Given the description of an element on the screen output the (x, y) to click on. 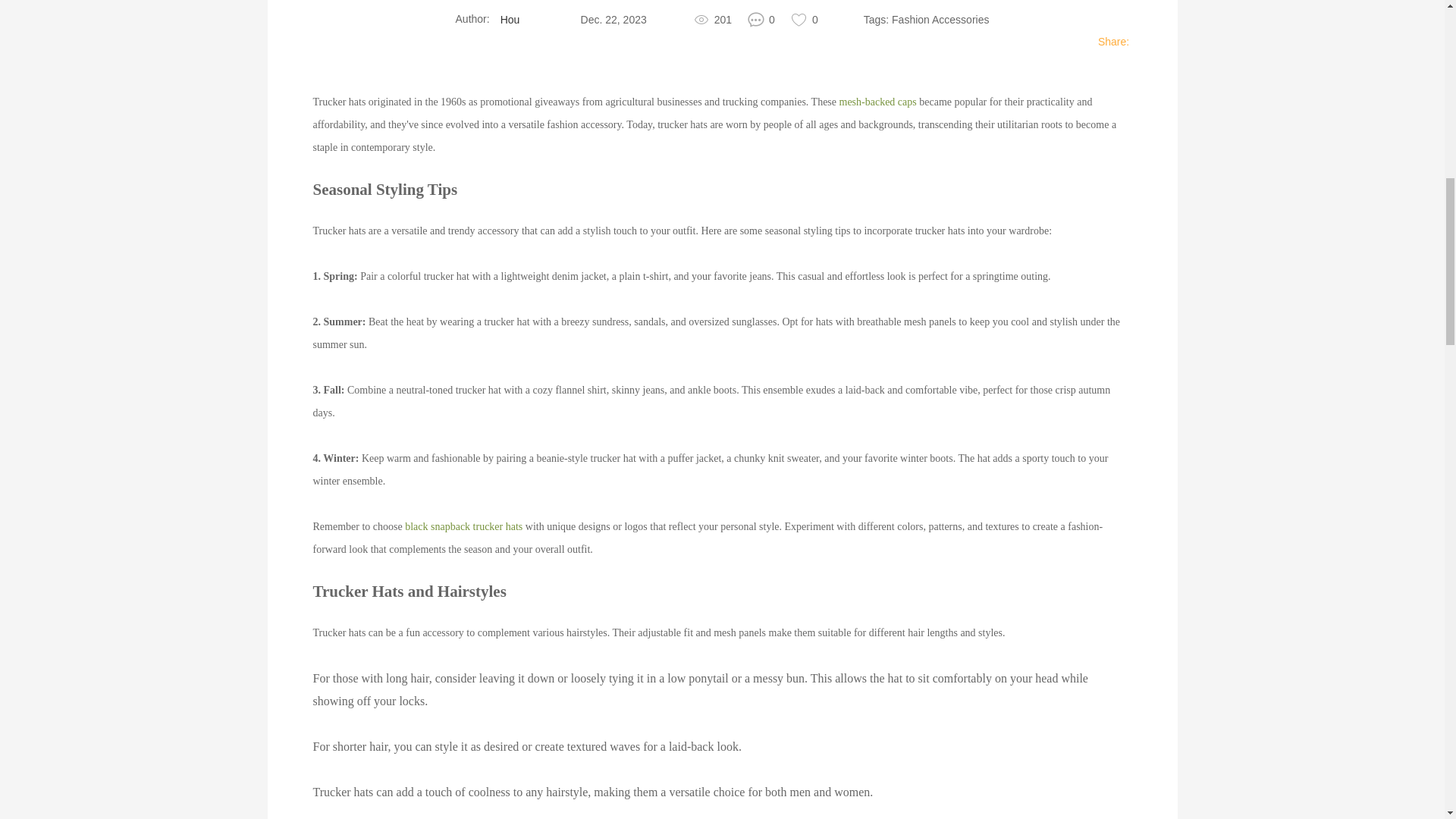
Fashion Accessories (939, 19)
Hou (510, 19)
mesh-backed caps (878, 101)
